Given the description of an element on the screen output the (x, y) to click on. 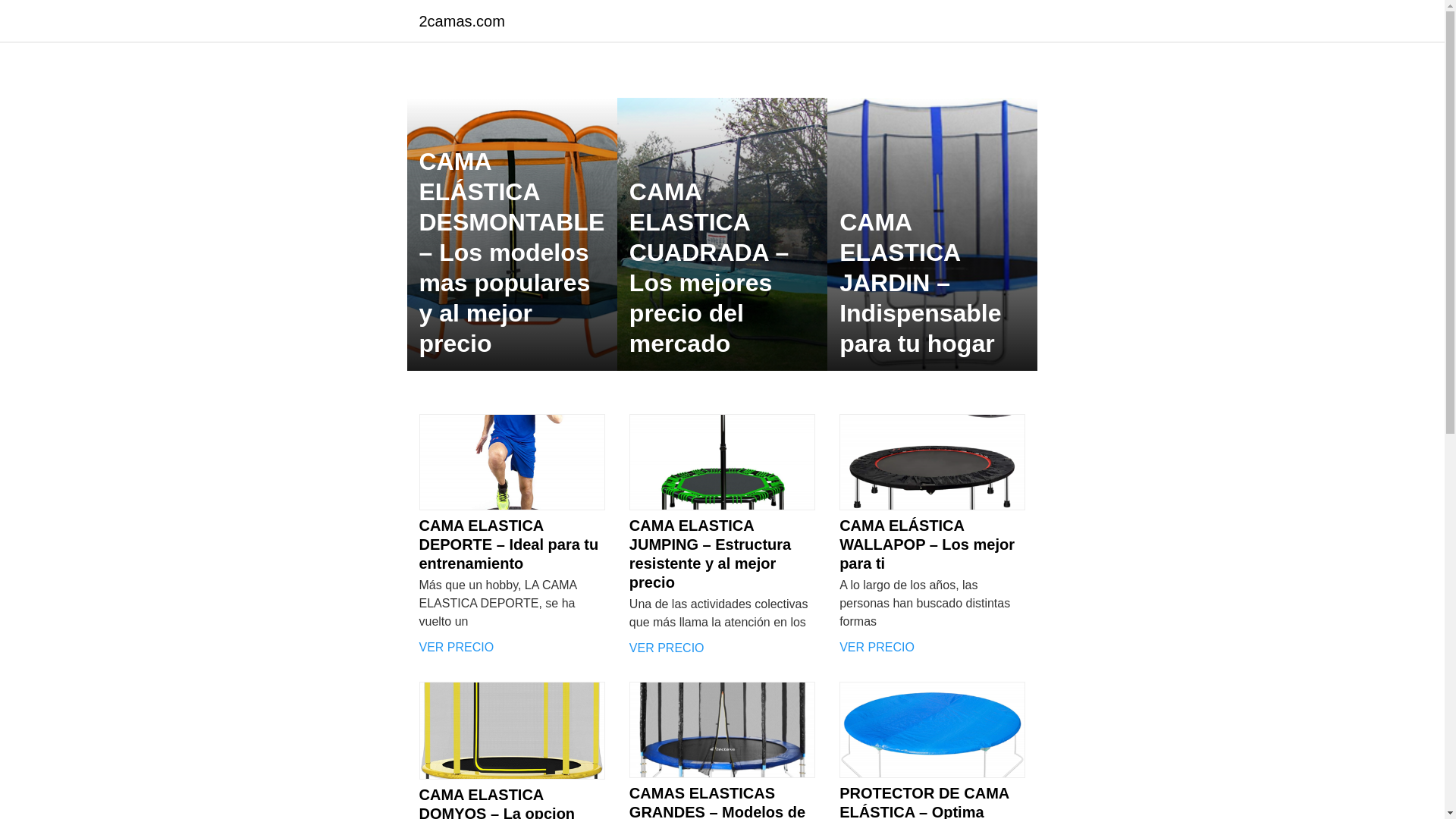
VER PRECIO Element type: text (722, 648)
VER PRECIO Element type: text (932, 647)
VER PRECIO Element type: text (511, 647)
2camas.com Element type: text (461, 20)
